Given the description of an element on the screen output the (x, y) to click on. 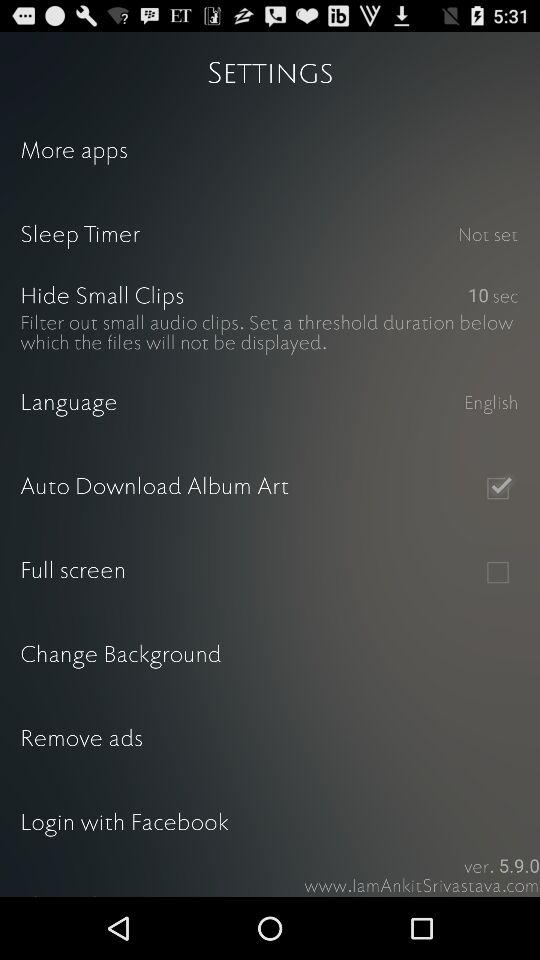
launch item below auto download album item (497, 572)
